Given the description of an element on the screen output the (x, y) to click on. 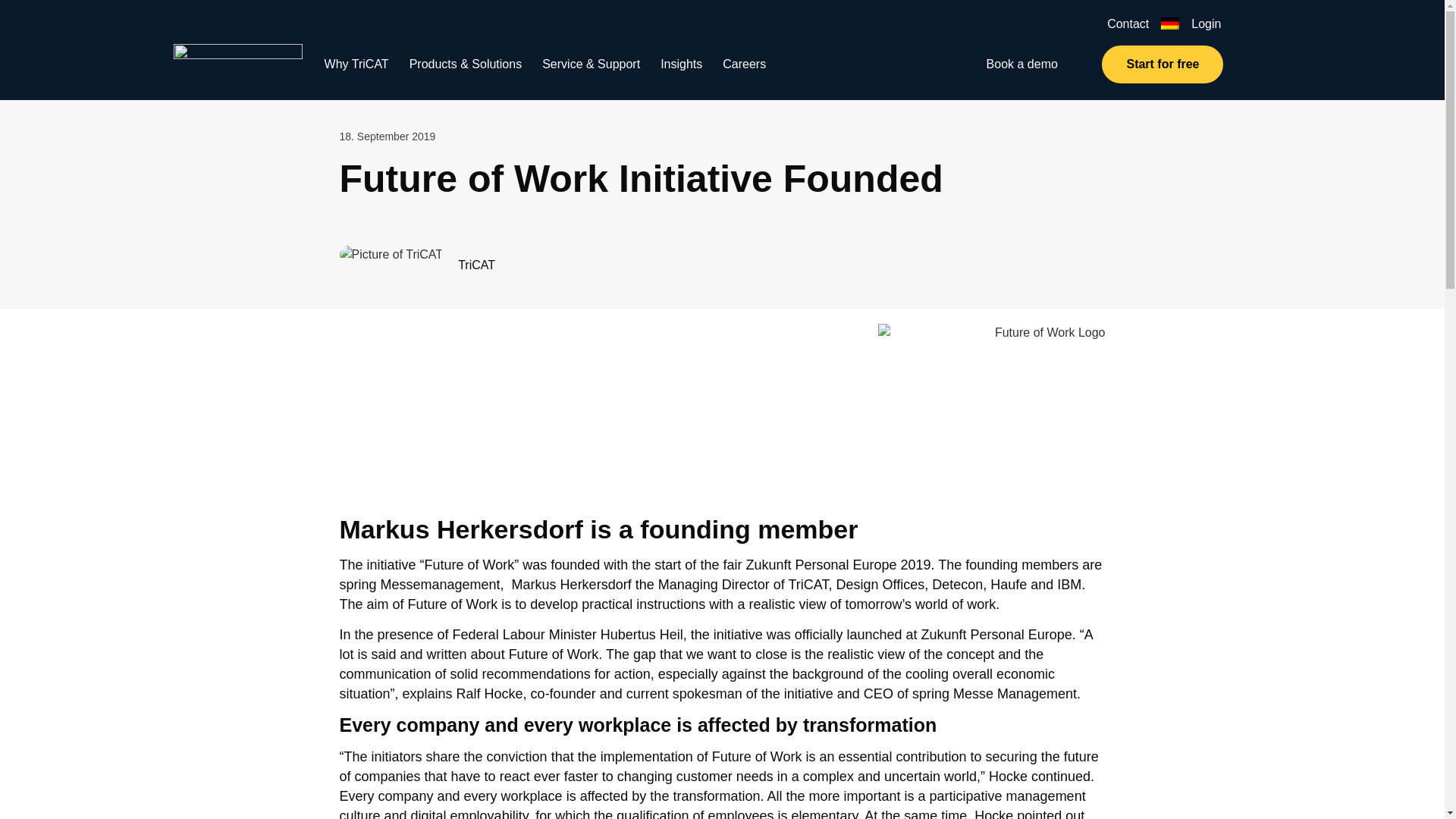
Insights (691, 64)
Book a demo (1022, 63)
Start for free (1162, 64)
Why TriCAT (366, 64)
Careers (754, 64)
Contact (1127, 23)
Login (1206, 23)
